Given the description of an element on the screen output the (x, y) to click on. 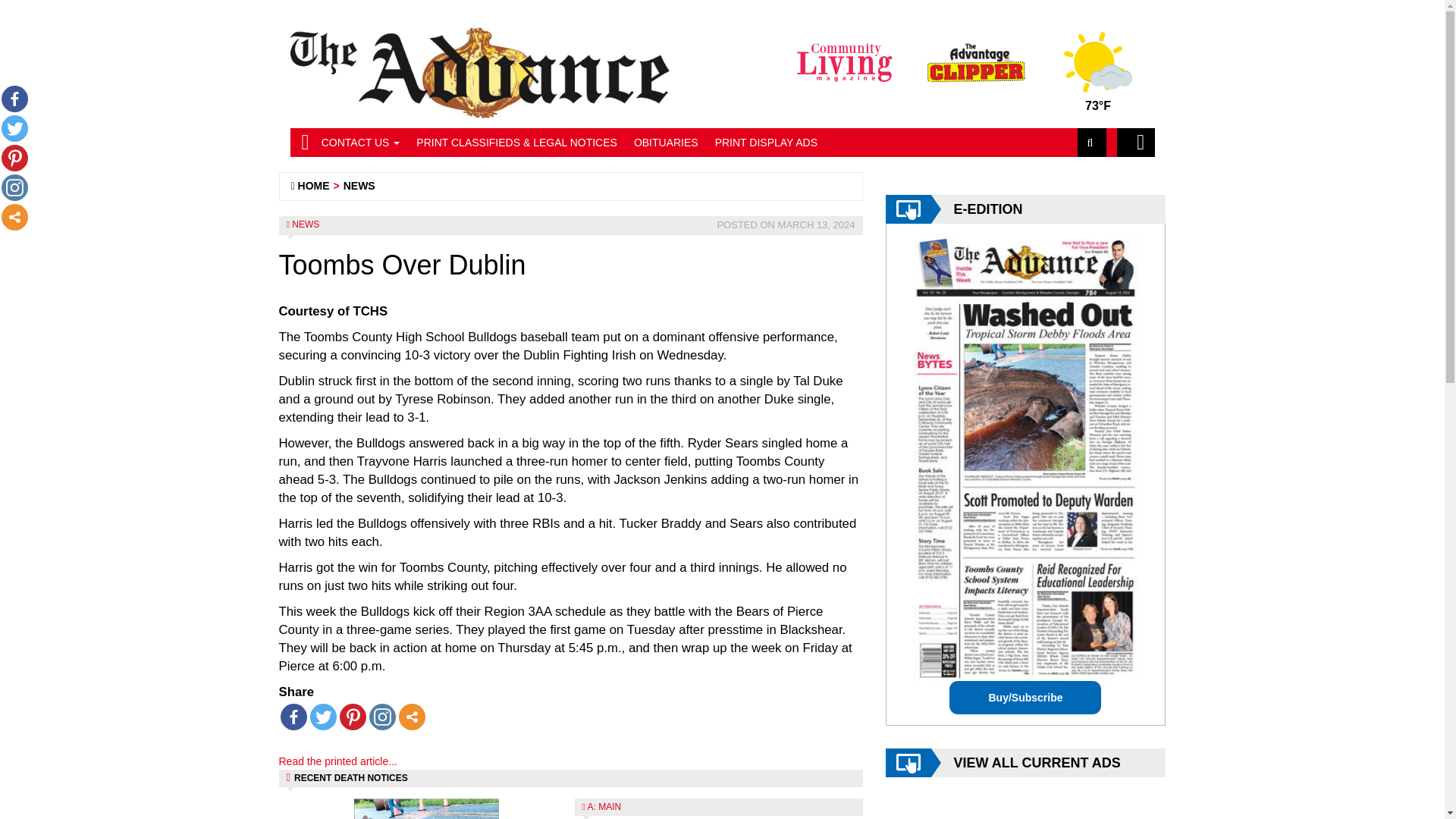
NEWS (359, 185)
Print Display Ads (765, 142)
OBITUARIES (666, 142)
Pinterest (14, 157)
CONTACT US (361, 142)
PRINT DISPLAY ADS (765, 142)
Twitter (322, 716)
Instagram (14, 187)
Twitter (14, 128)
Pinterest (352, 716)
